Given the description of an element on the screen output the (x, y) to click on. 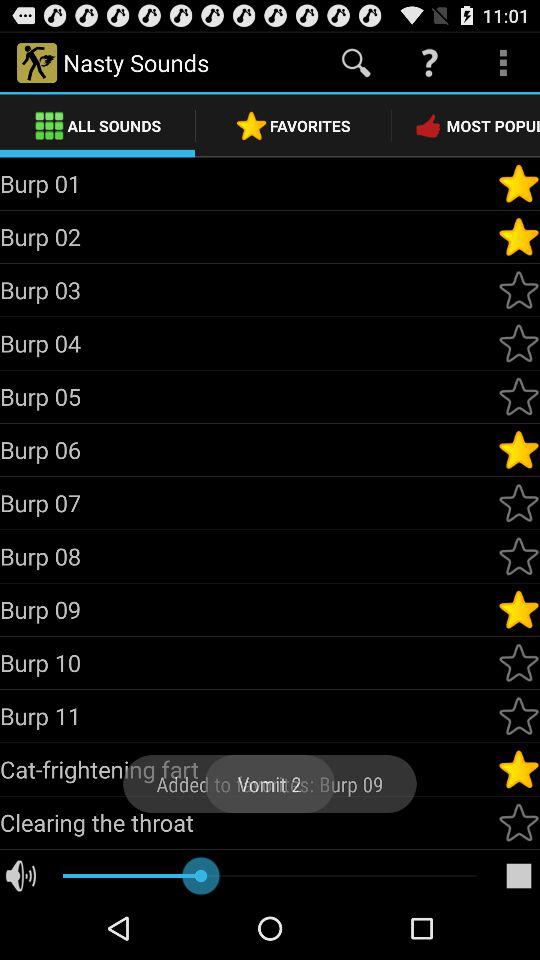
mark as favorite (519, 237)
